Given the description of an element on the screen output the (x, y) to click on. 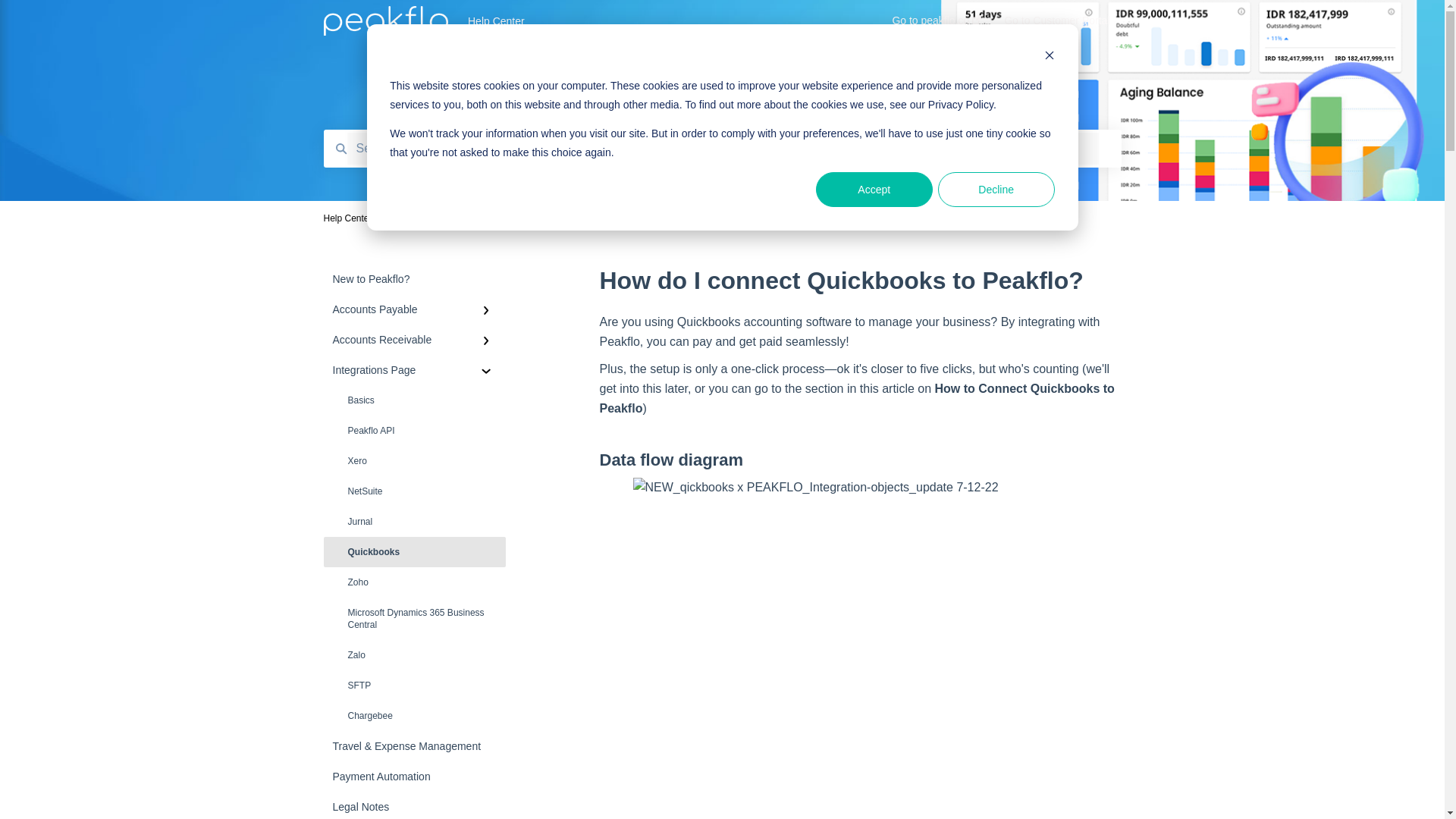
Go to Customer Portal (1056, 25)
Go to peakflo.co (936, 25)
Help Center (656, 21)
